Given the description of an element on the screen output the (x, y) to click on. 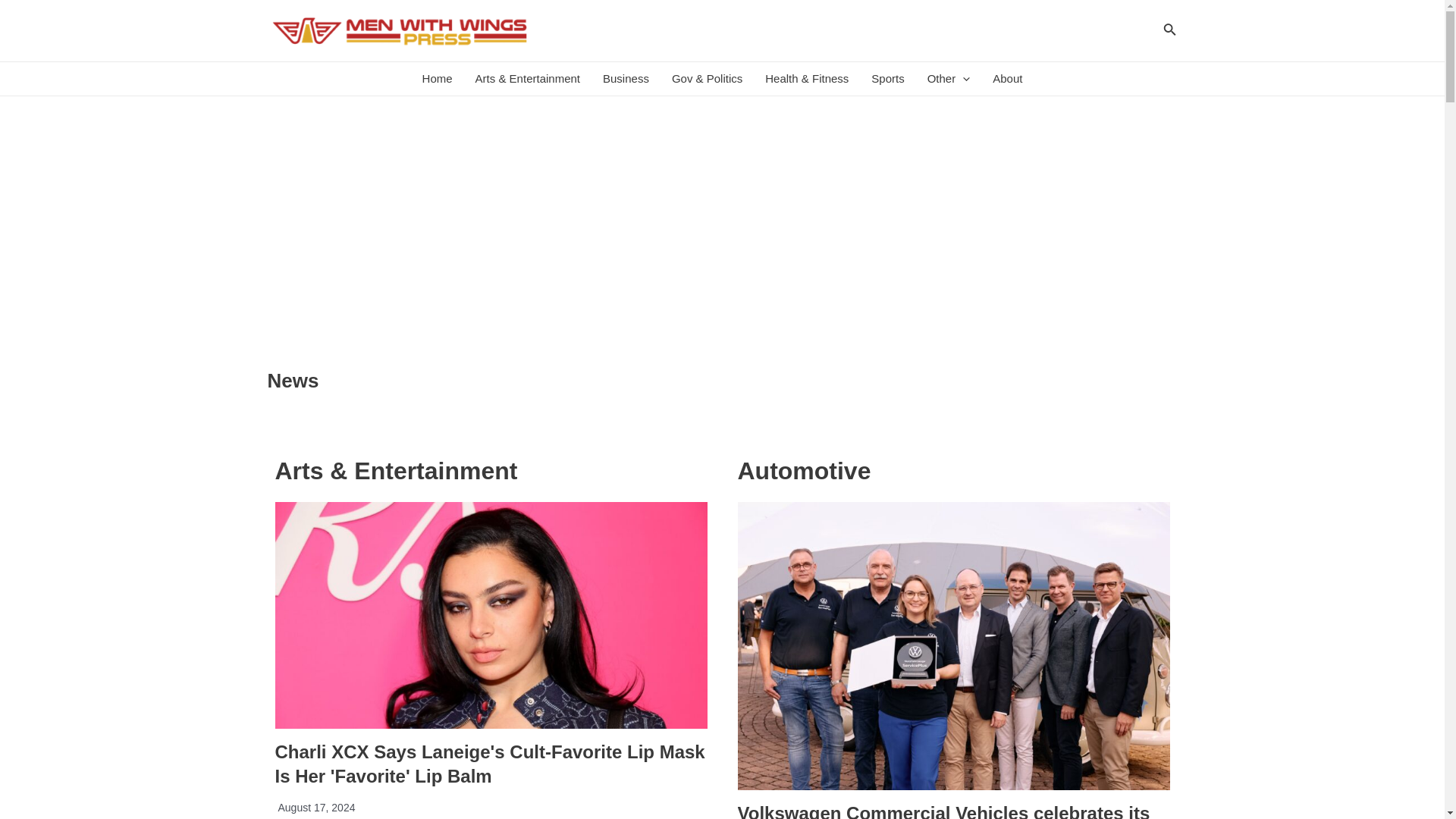
Other (948, 78)
Home (437, 78)
Business (626, 78)
About (1007, 78)
Sports (887, 78)
